Given the description of an element on the screen output the (x, y) to click on. 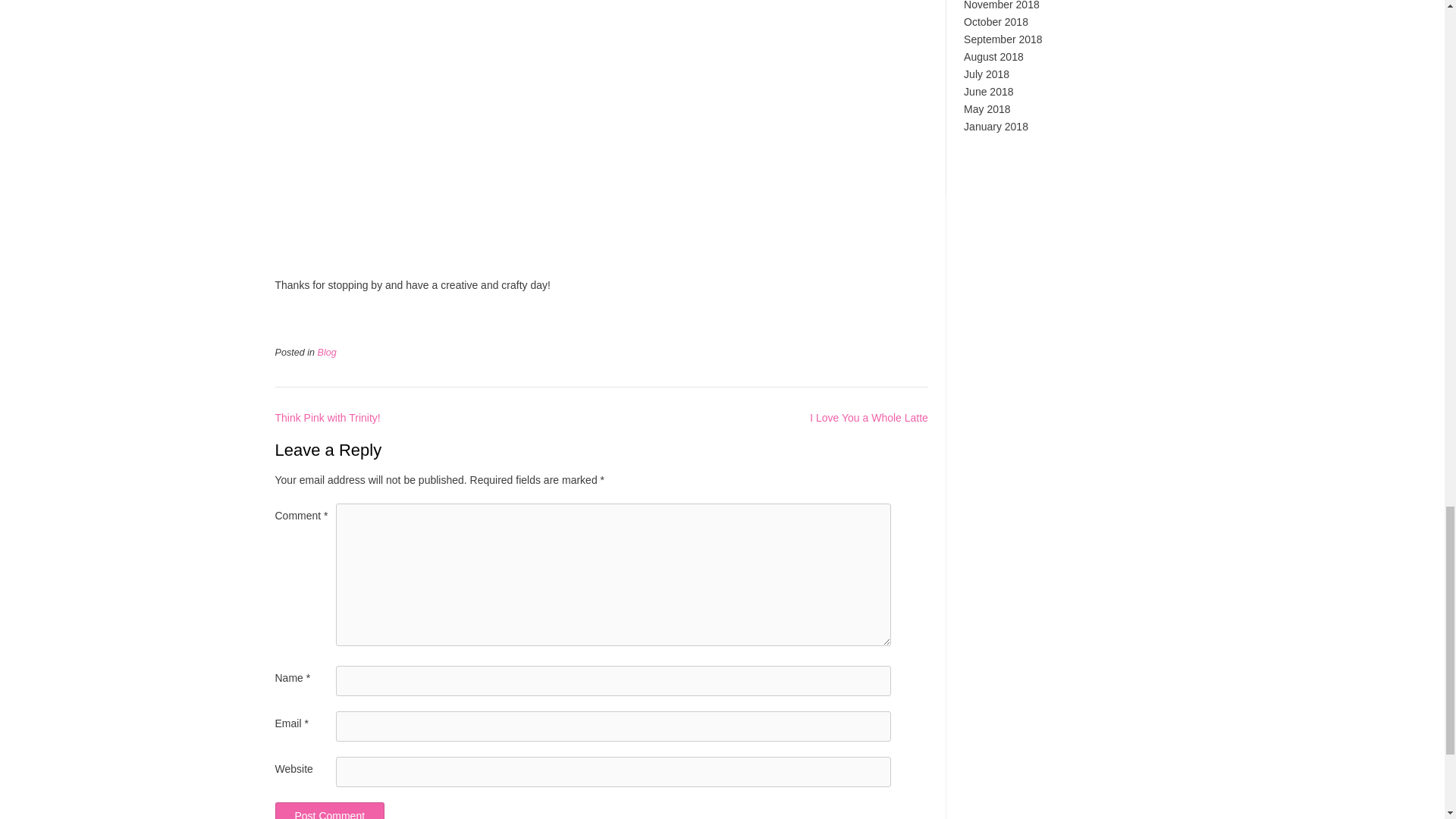
Post Comment (329, 810)
I Love You a Whole Latte (868, 417)
Post Comment (329, 810)
Blog (326, 352)
Think Pink with Trinity! (327, 417)
